Given the description of an element on the screen output the (x, y) to click on. 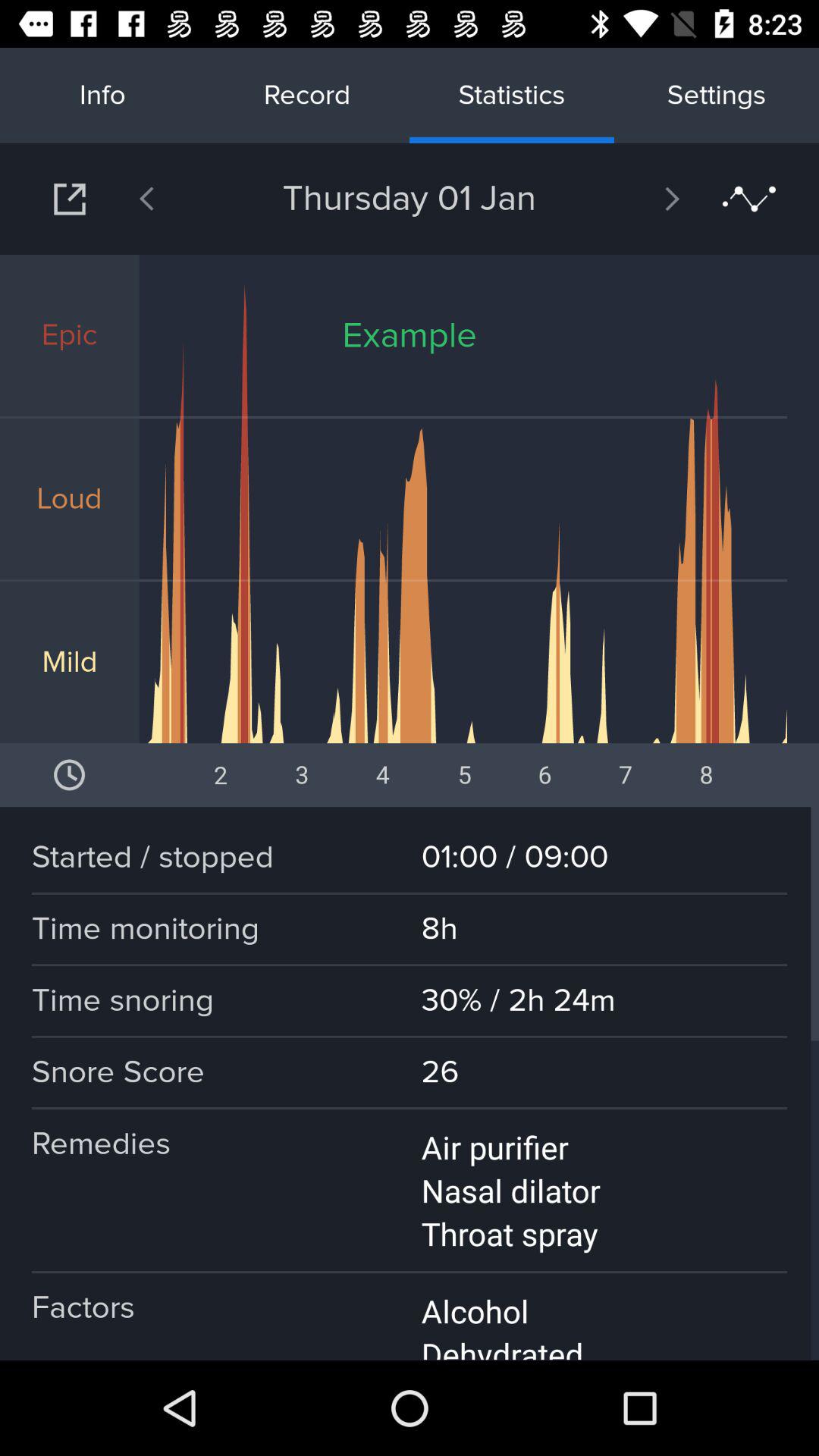
launch the app to the left of the thursday 01 jan icon (186, 198)
